Given the description of an element on the screen output the (x, y) to click on. 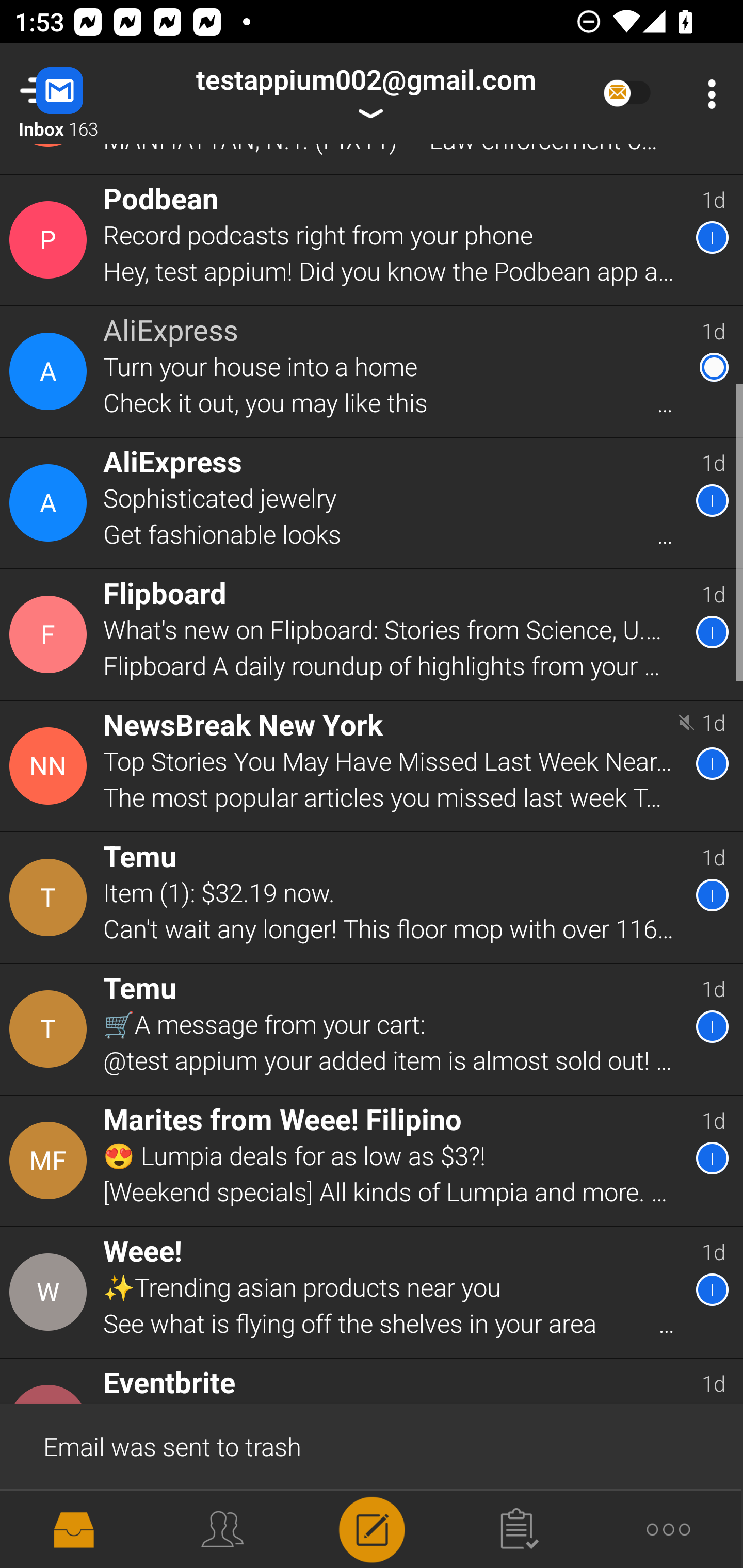
Navigate up (81, 93)
testappium002@gmail.com (365, 93)
More Options (706, 93)
Contact Details (50, 240)
Contact Details (50, 371)
Contact Details (50, 502)
Contact Details (50, 634)
Contact Details (50, 765)
Contact Details (50, 897)
Contact Details (50, 1029)
Contact Details (50, 1161)
Contact Details (50, 1292)
Email was sent to trash (371, 1445)
Compose (371, 1528)
